Given the description of an element on the screen output the (x, y) to click on. 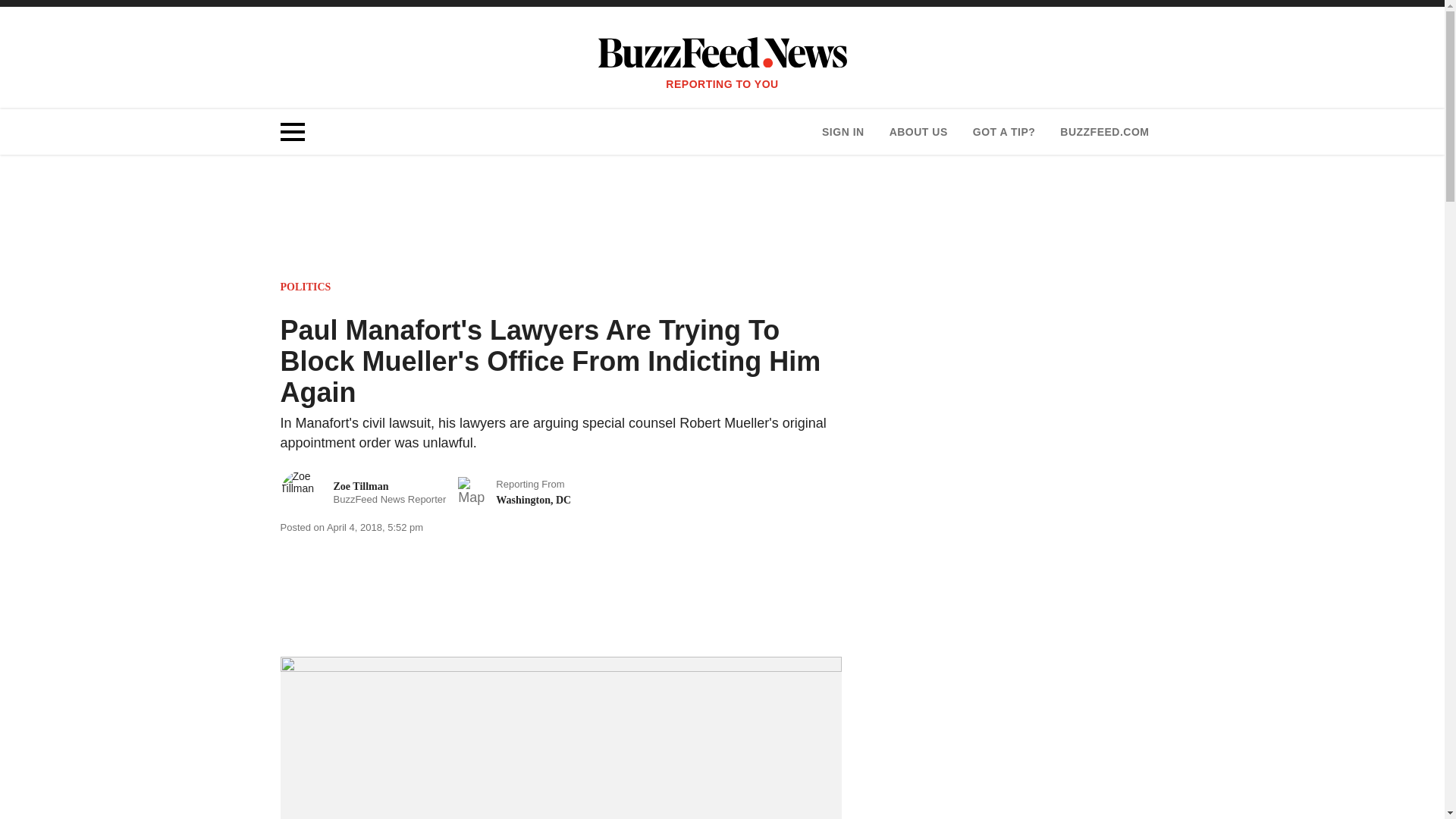
POLITICS (306, 286)
BUZZFEED.COM (363, 492)
GOT A TIP? (1103, 131)
ABOUT US (1003, 131)
SIGN IN (917, 131)
